Given the description of an element on the screen output the (x, y) to click on. 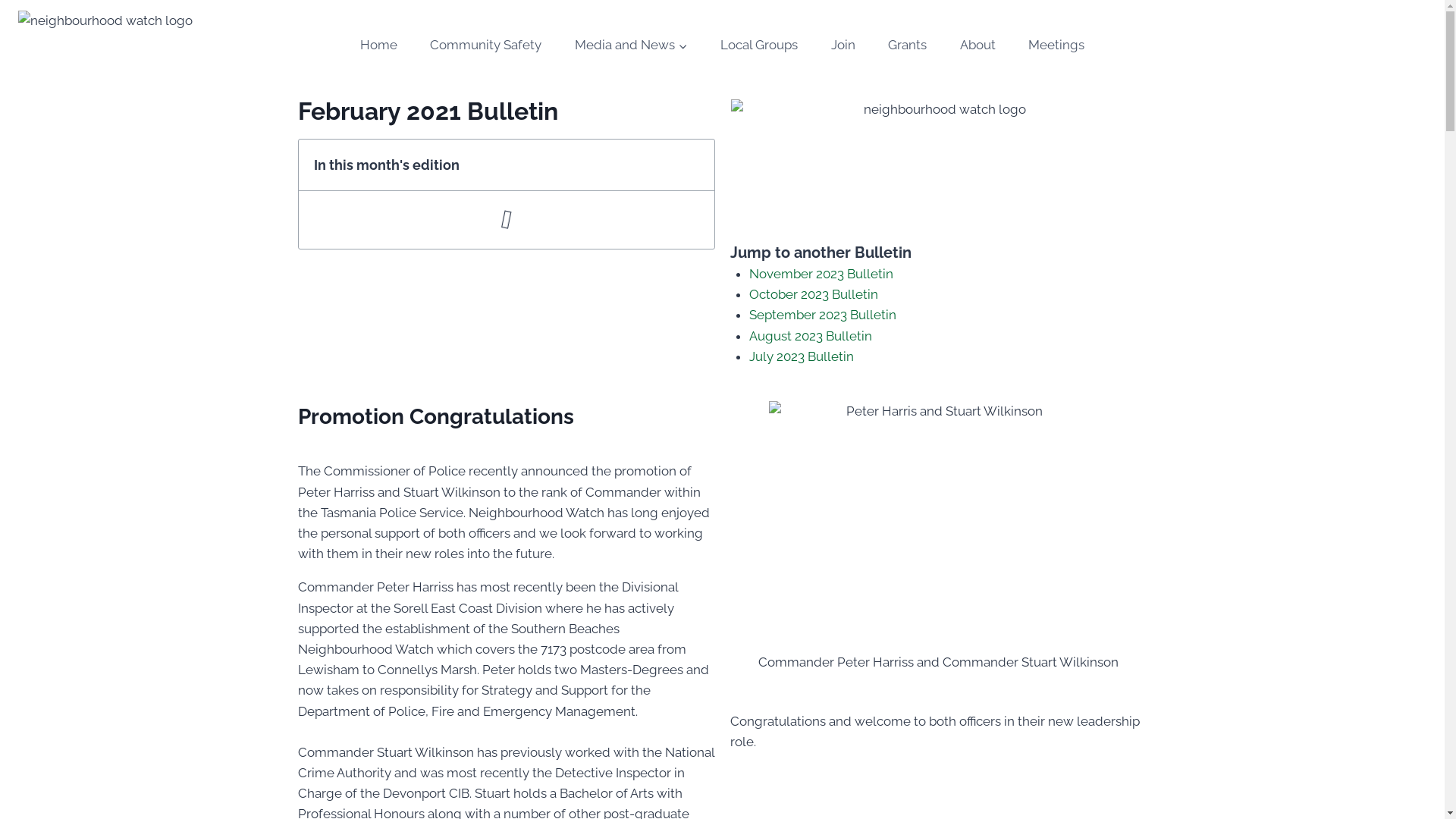
Meetings Element type: text (1056, 45)
August 2023 Bulletin Element type: text (810, 335)
Community Safety Element type: text (486, 45)
September 2023 Bulletin Element type: text (822, 314)
Grants Element type: text (908, 45)
November 2023 Bulletin Element type: text (821, 273)
Join Element type: text (843, 45)
Local Groups Element type: text (758, 45)
July 2023 Bulletin Element type: text (801, 356)
October 2023 Bulletin Element type: text (813, 293)
Home Element type: text (378, 45)
About Element type: text (977, 45)
Media and News Element type: text (631, 45)
